Given the description of an element on the screen output the (x, y) to click on. 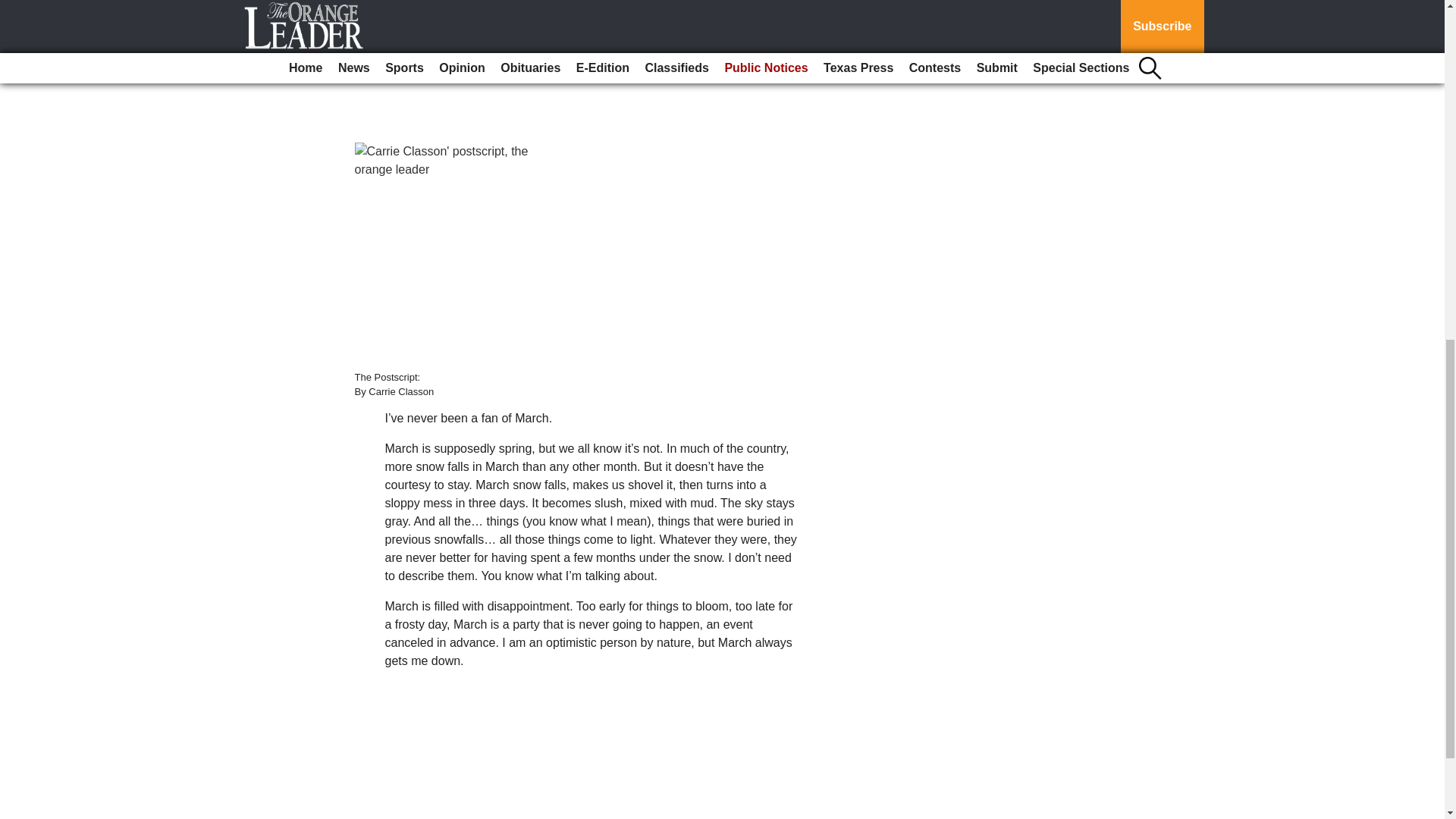
Trinity Audio (497, 77)
